Given the description of an element on the screen output the (x, y) to click on. 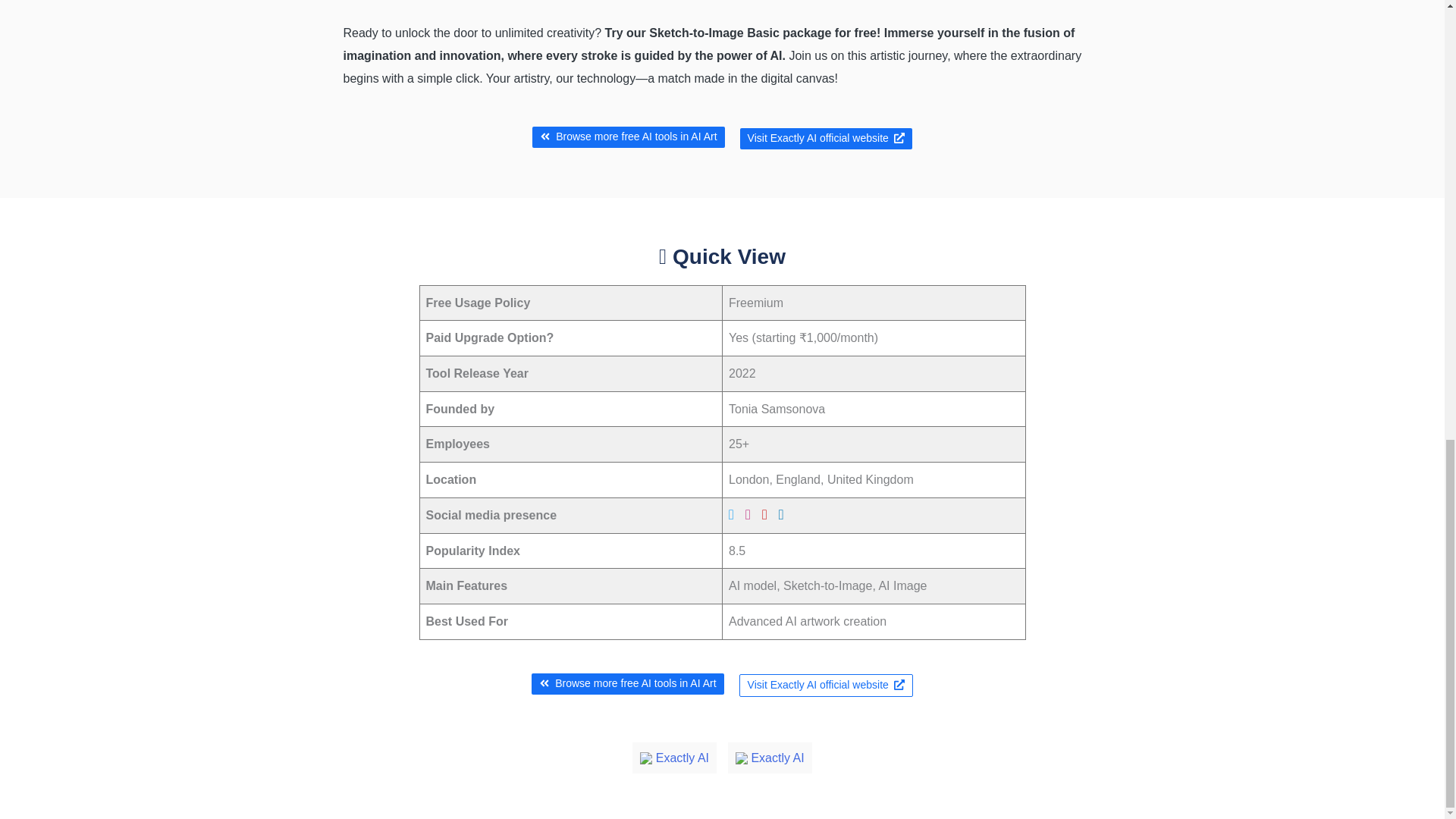
Visit Exactly AI official website (825, 685)
Browse more free AI tools in AI Art (627, 137)
Visit Exactly AI official website (825, 138)
Browse more free AI tools in AI Art (627, 683)
